Given the description of an element on the screen output the (x, y) to click on. 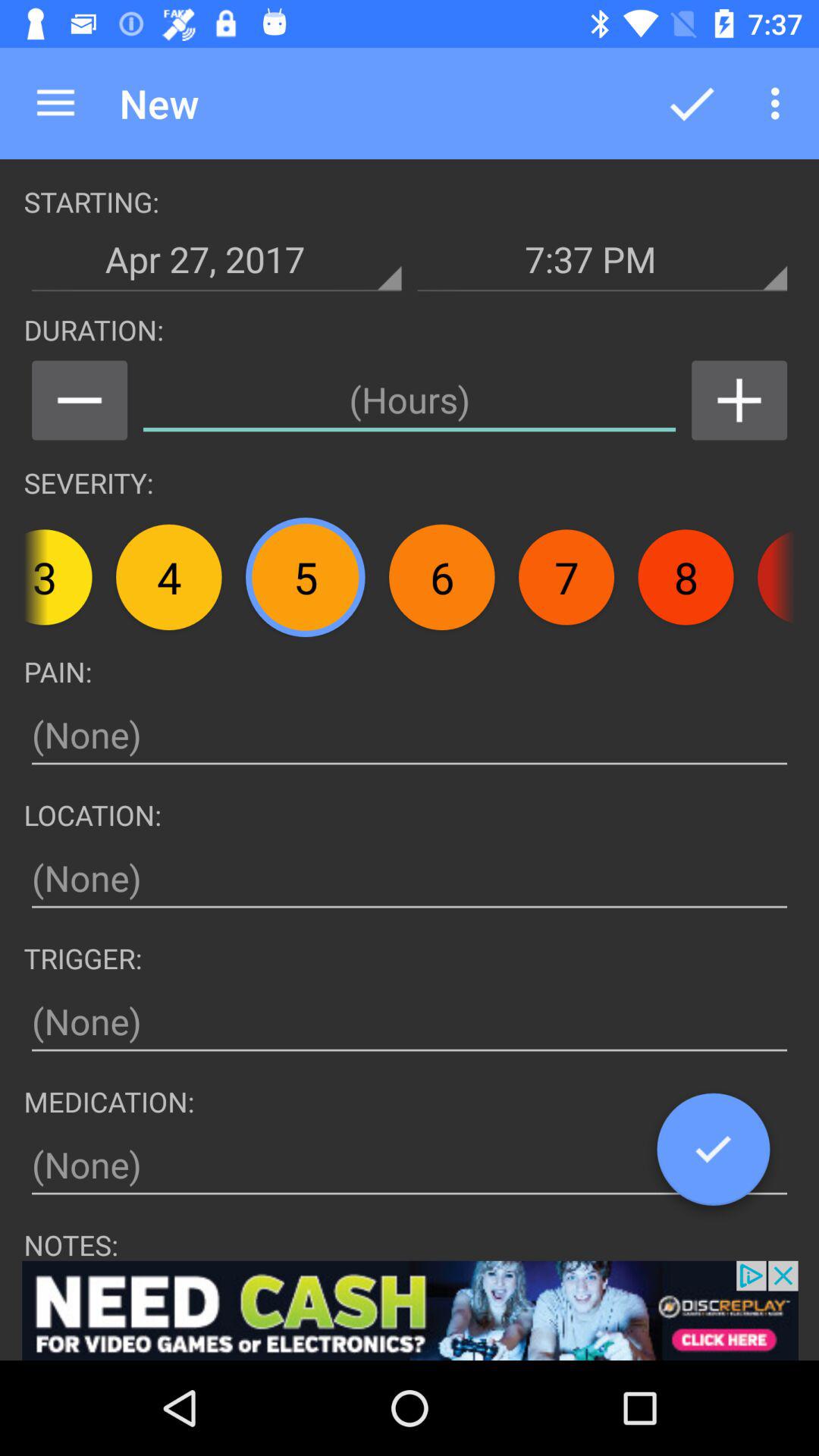
less duration option (79, 400)
